Given the description of an element on the screen output the (x, y) to click on. 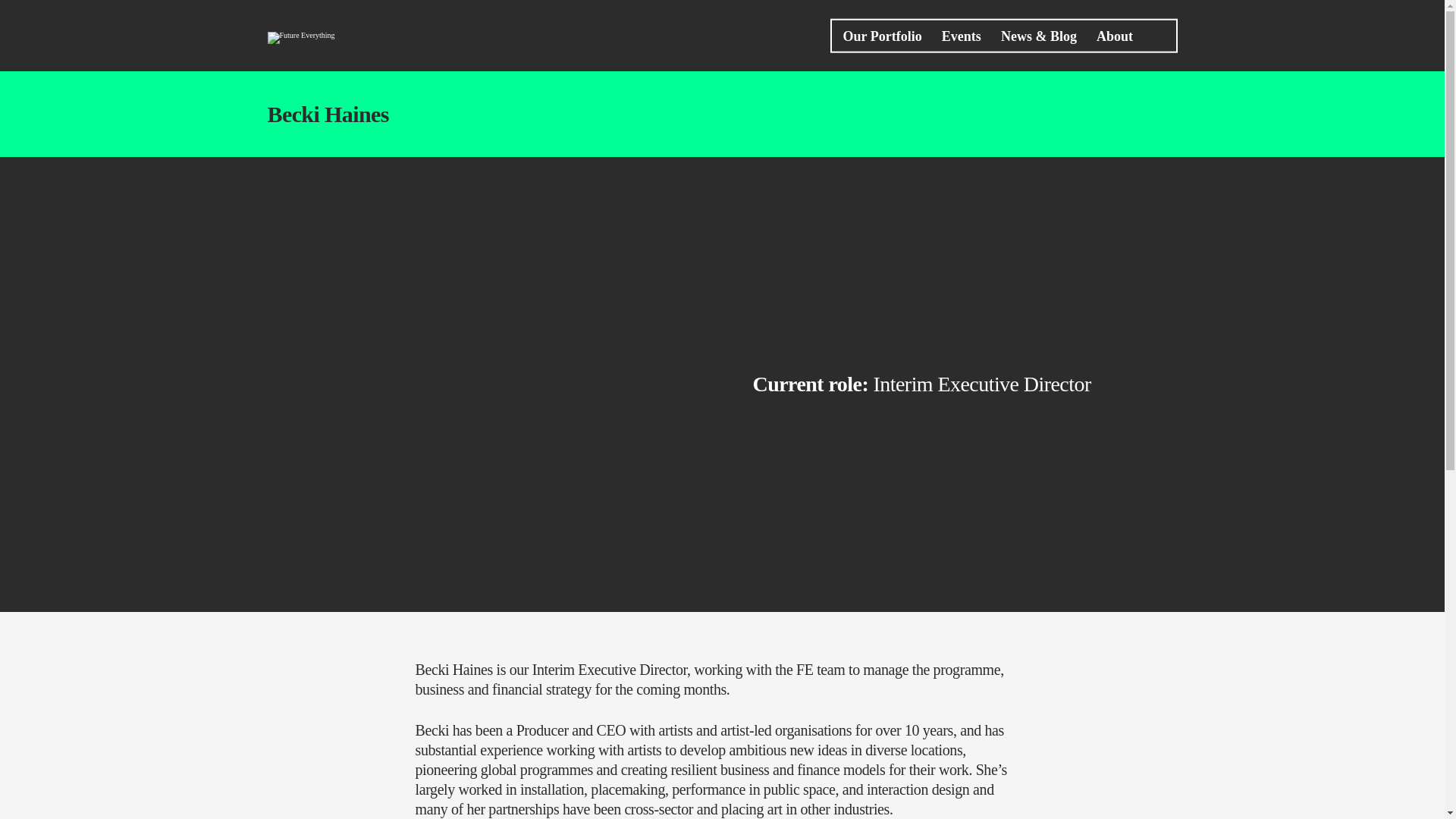
Show search form (1158, 34)
Our Portfolio (882, 36)
About (1114, 36)
Search (915, 103)
Events (961, 36)
